Given the description of an element on the screen output the (x, y) to click on. 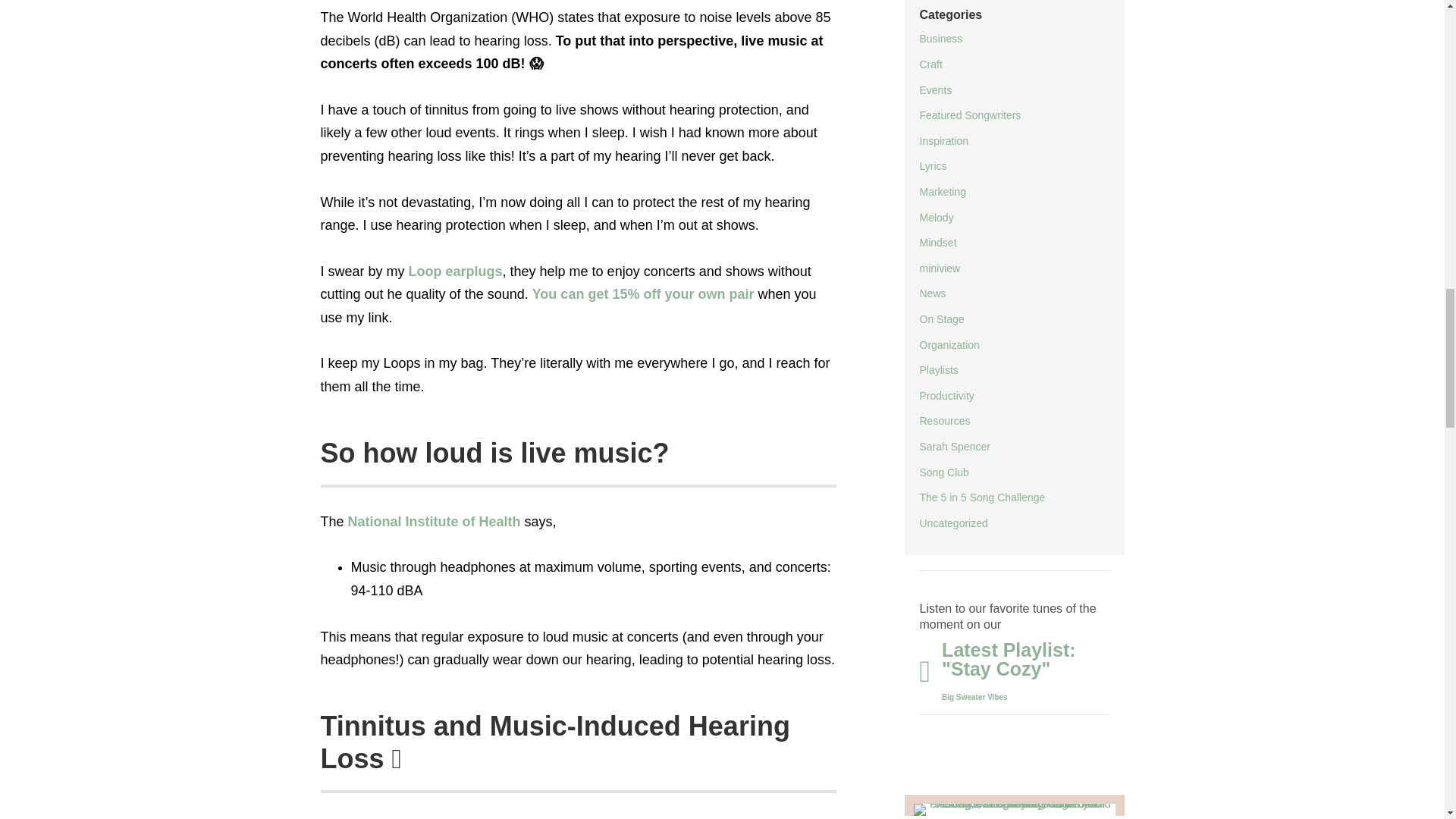
Events (935, 90)
Business (940, 38)
Inspiration (943, 141)
Marketing (941, 191)
Song-Club-inside (1014, 804)
Melody (935, 217)
Mindset (937, 242)
National Institute of Health (434, 521)
Craft (930, 64)
Lyrics (932, 165)
